Given the description of an element on the screen output the (x, y) to click on. 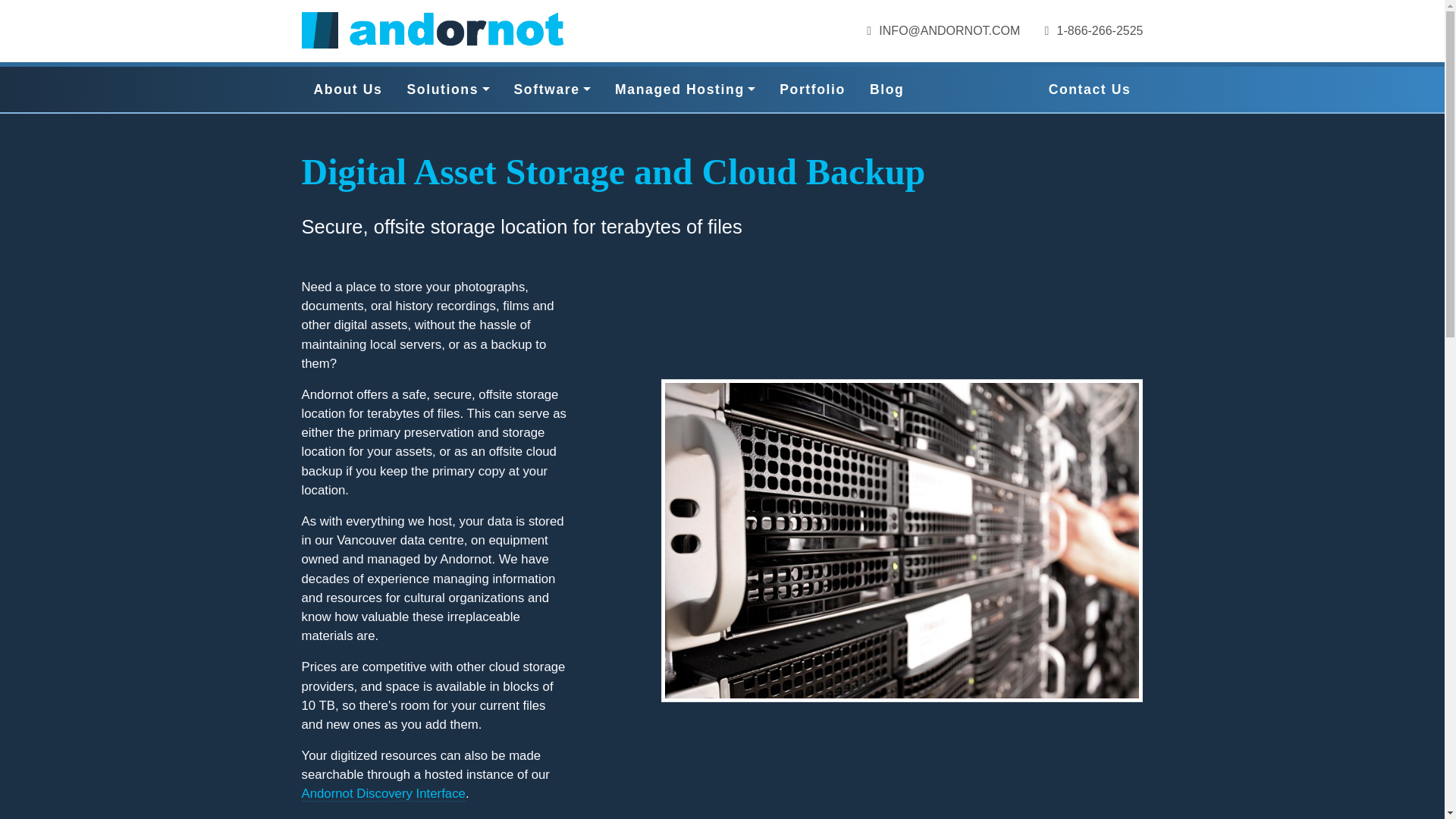
About Us (347, 89)
Managed Hosting (684, 89)
Software (553, 89)
Contact Us (1089, 89)
Andornot Discovery Interface (383, 793)
Blog (887, 89)
Portfolio (812, 89)
Solutions (447, 89)
Andornot Discovery Interface Hosting (383, 793)
